Given the description of an element on the screen output the (x, y) to click on. 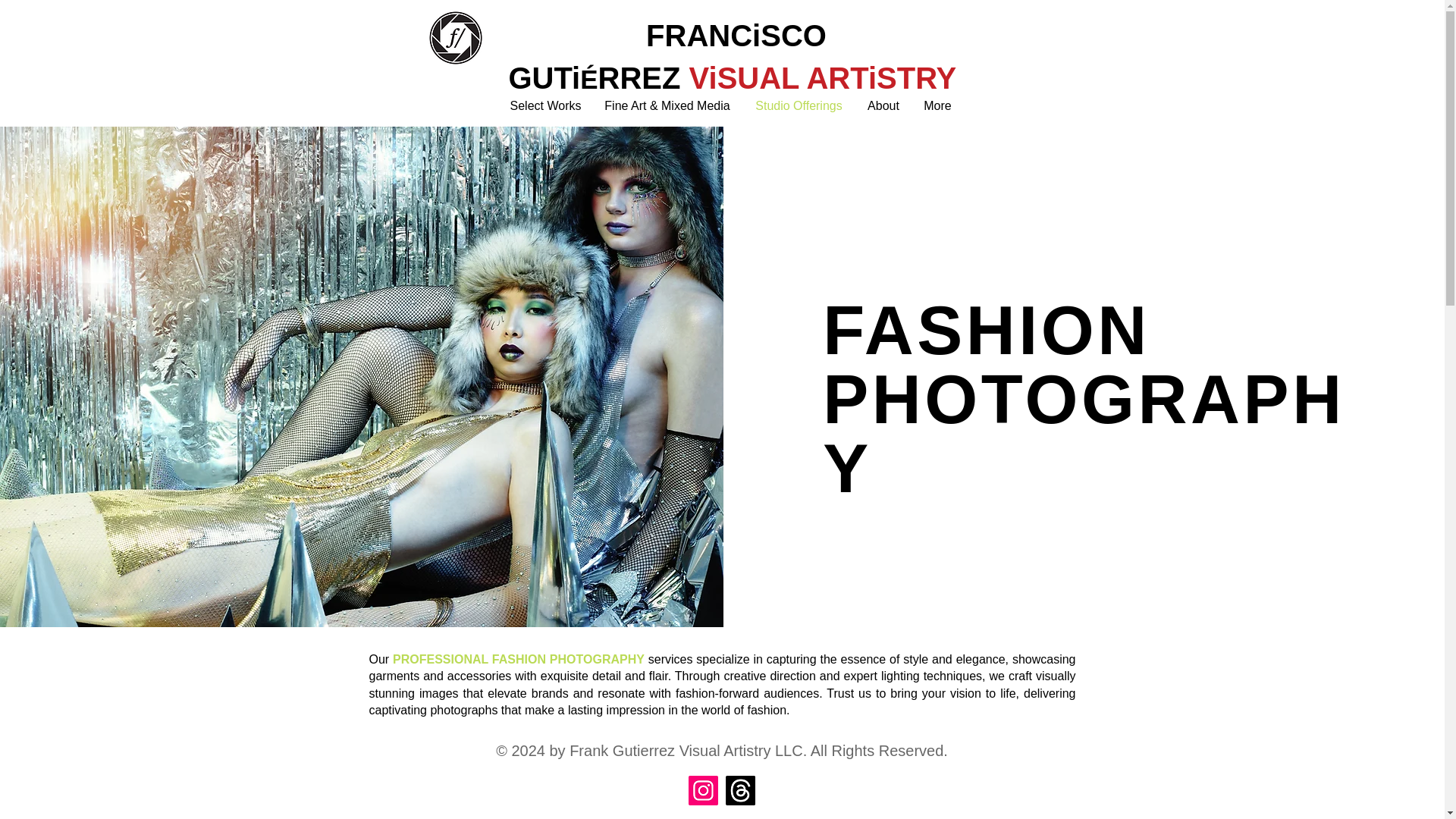
Select Works (545, 105)
About (884, 105)
Studio Offerings (799, 105)
